Given the description of an element on the screen output the (x, y) to click on. 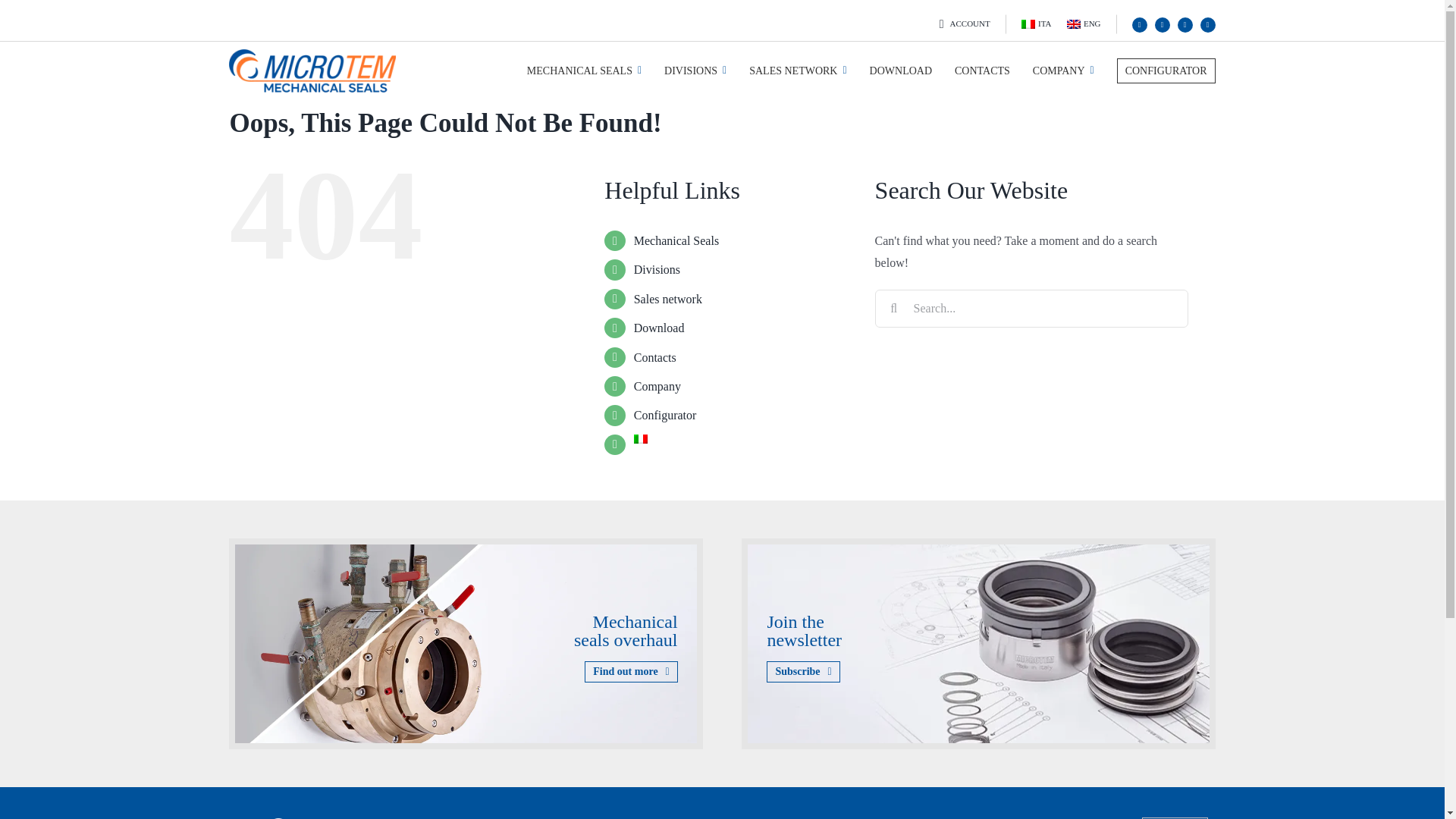
TECNOMAR (1174, 818)
Facebook (1139, 23)
MECHANICAL SEALS (572, 70)
ENG (1083, 23)
ITA (1036, 23)
CONFIGURATOR (1154, 70)
COMPANY (1052, 70)
SALES NETWORK (785, 70)
CONTACTS (970, 70)
ACCOUNT (961, 24)
